Given the description of an element on the screen output the (x, y) to click on. 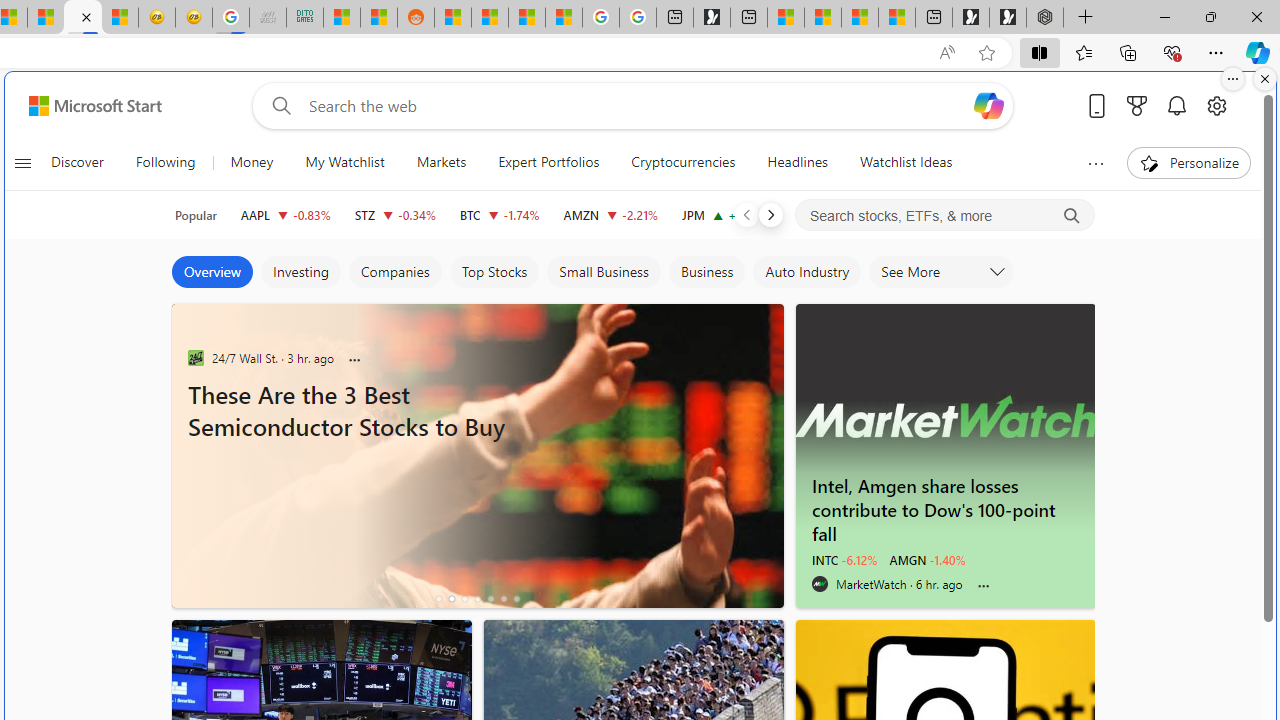
These 3 Stocks Pay You More Than 5% to Own Them (897, 17)
See More (942, 272)
Markets (441, 162)
Play Free Online Games | Games from Microsoft Start (1007, 17)
My Watchlist (344, 162)
